Given the description of an element on the screen output the (x, y) to click on. 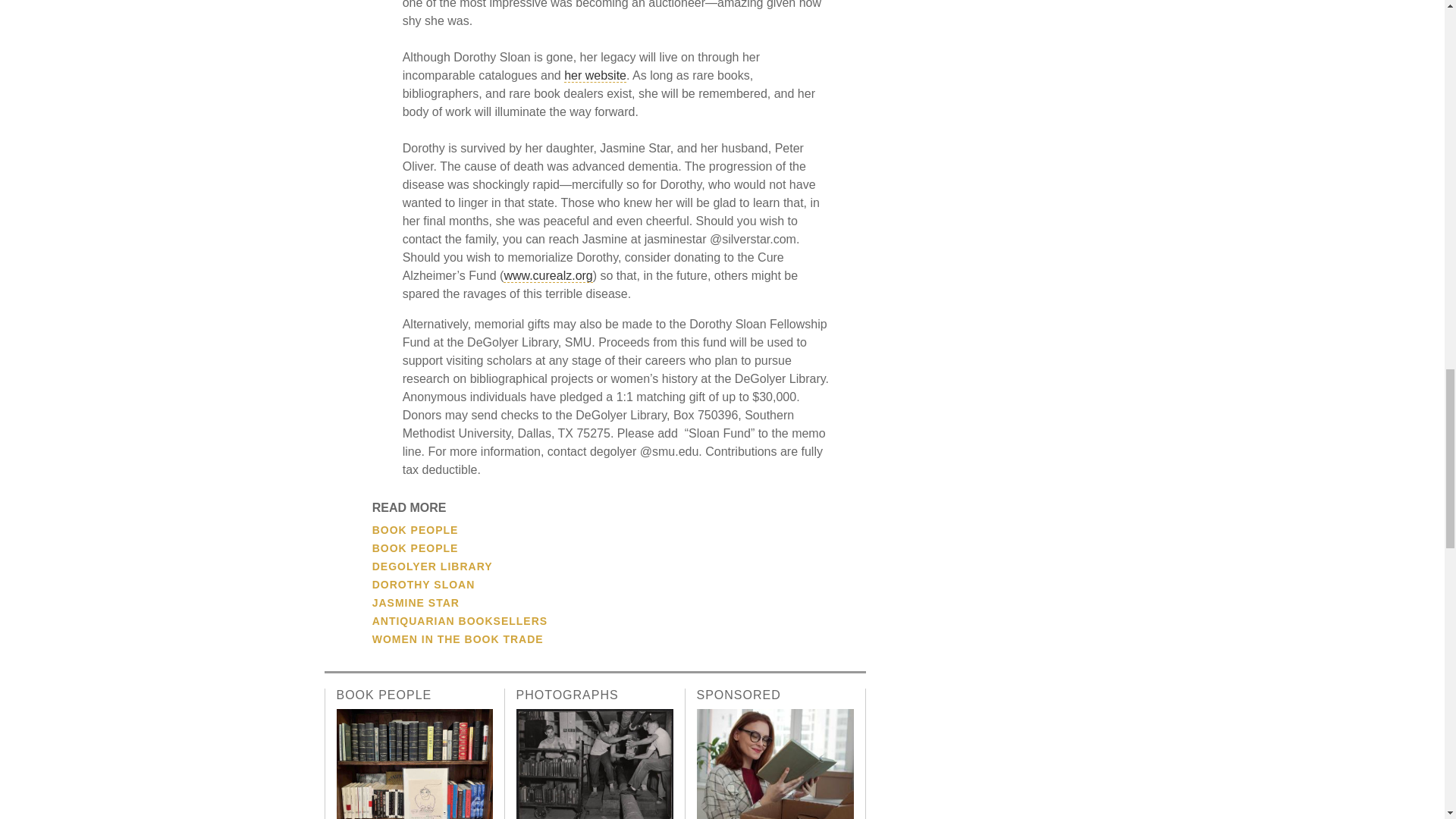
DOROTHY SLOAN (424, 584)
JASMINE STAR (416, 603)
BOOK PEOPLE (415, 548)
ANTIQUARIAN BOOKSELLERS (459, 621)
WOMEN IN THE BOOK TRADE (457, 639)
www.curealz.org (547, 275)
her website (595, 75)
DEGOLYER LIBRARY (432, 566)
BOOK PEOPLE (415, 530)
